Given the description of an element on the screen output the (x, y) to click on. 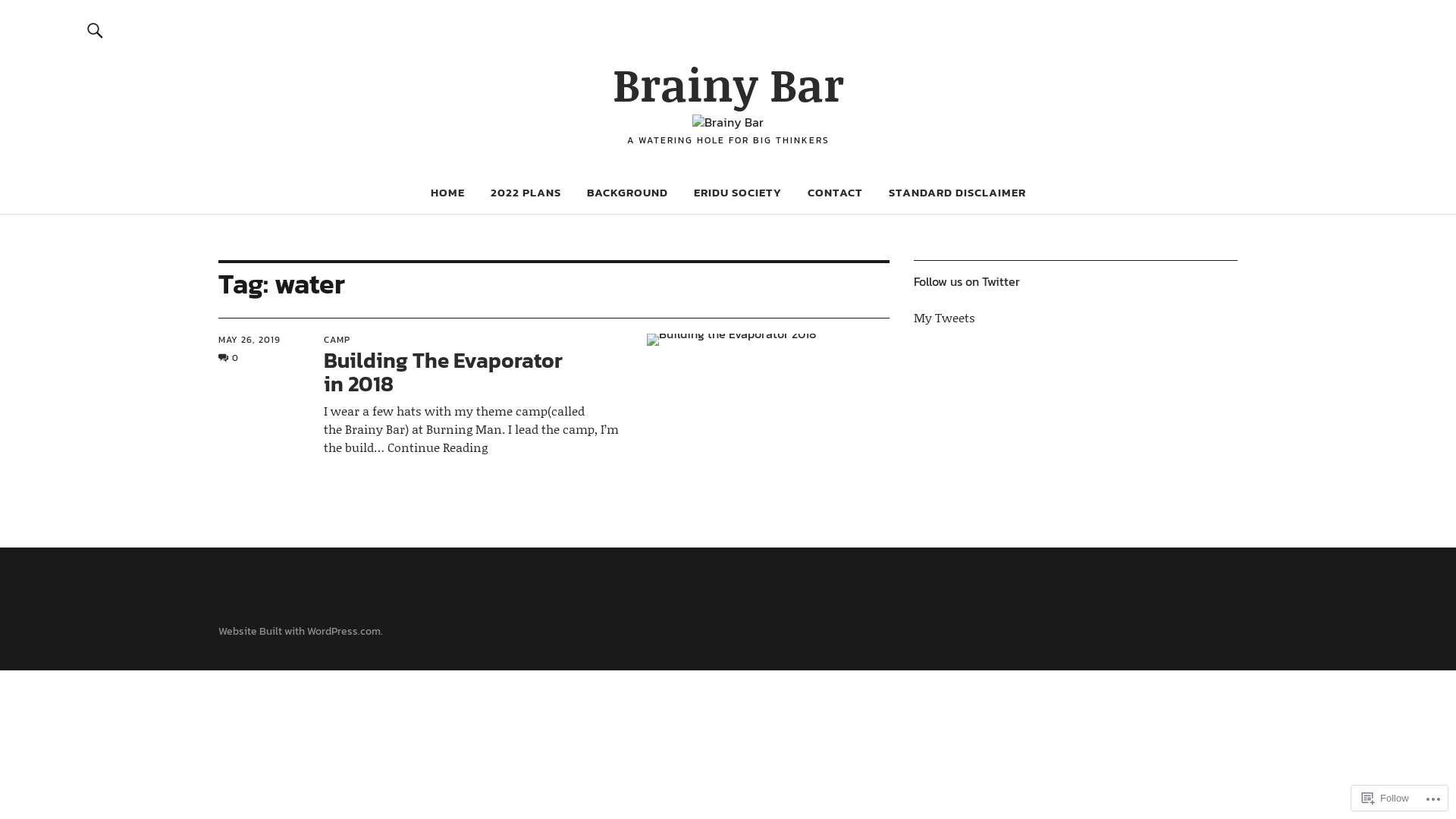
Continue Reading Element type: text (430, 446)
Follow Element type: text (1385, 797)
BACKGROUND Element type: text (627, 191)
My Tweets Element type: text (944, 317)
CAMP Element type: text (336, 339)
HOME Element type: text (447, 191)
STANDARD DISCLAIMER Element type: text (957, 191)
Building The Evaporator in 2018 Element type: text (442, 371)
Website Built with WordPress.com Element type: text (299, 631)
ERIDU SOCIETY Element type: text (737, 191)
MAY 26, 2019 Element type: text (249, 339)
0 Element type: text (228, 357)
2022 PLANS Element type: text (524, 191)
CONTACT Element type: text (834, 191)
Brainy Bar Element type: text (728, 83)
